Given the description of an element on the screen output the (x, y) to click on. 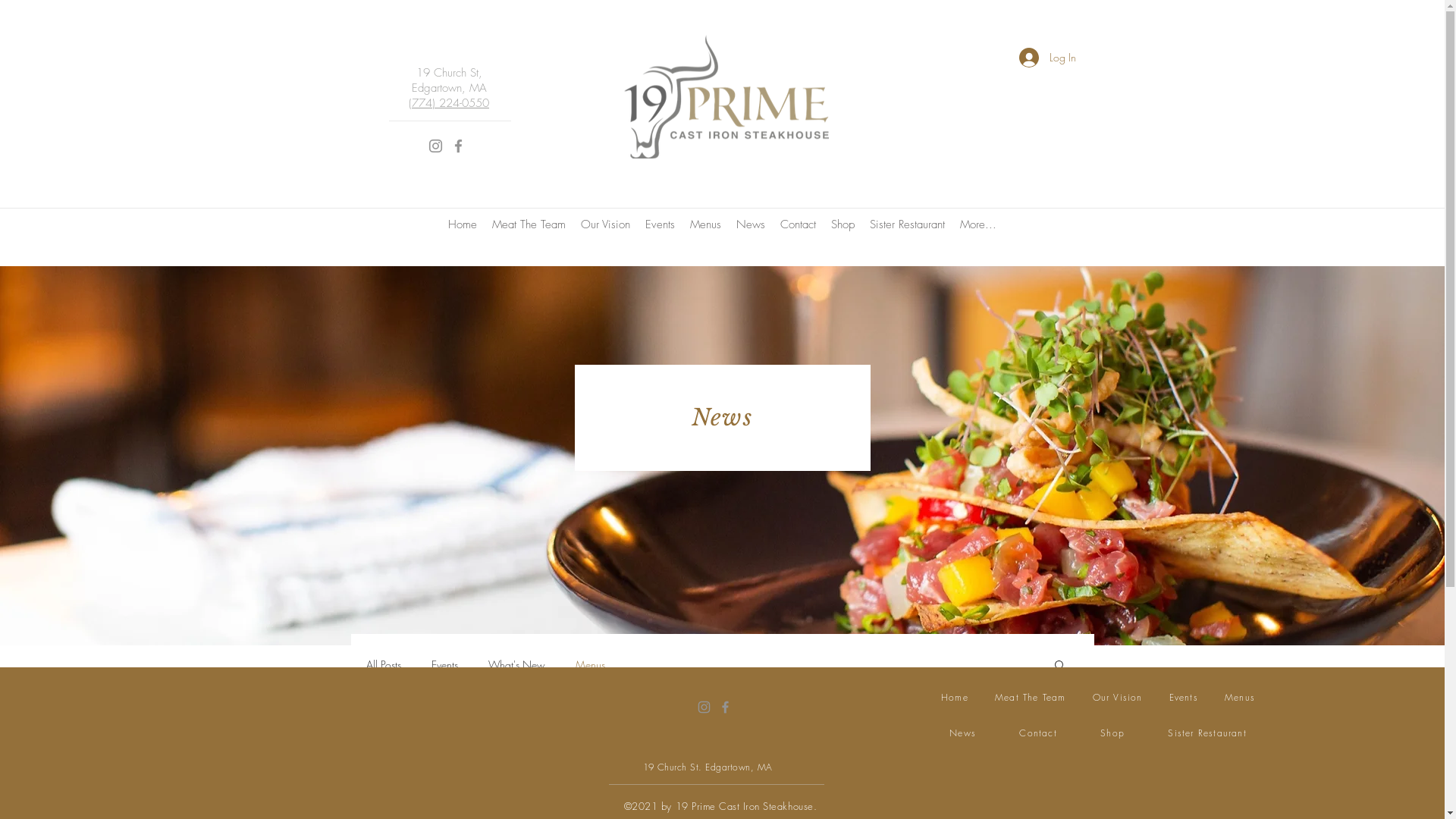
Log In Element type: text (1047, 57)
Meat The Team Element type: text (1030, 697)
Home Element type: text (955, 697)
Events Element type: text (659, 230)
(774) 224-0550 Element type: text (448, 102)
News Element type: text (962, 733)
Menus Element type: text (589, 663)
Meat The Team Element type: text (527, 230)
What's New Element type: text (516, 663)
Contact Element type: text (1038, 733)
Events Element type: text (1183, 697)
Events Element type: text (443, 663)
Home Element type: text (461, 230)
All Posts Element type: text (382, 663)
Wine Lockers Element type: text (894, 783)
Our Vision Element type: text (1117, 697)
Our Vision Element type: text (605, 230)
News Element type: text (749, 230)
Contact Element type: text (796, 230)
